Given the description of an element on the screen output the (x, y) to click on. 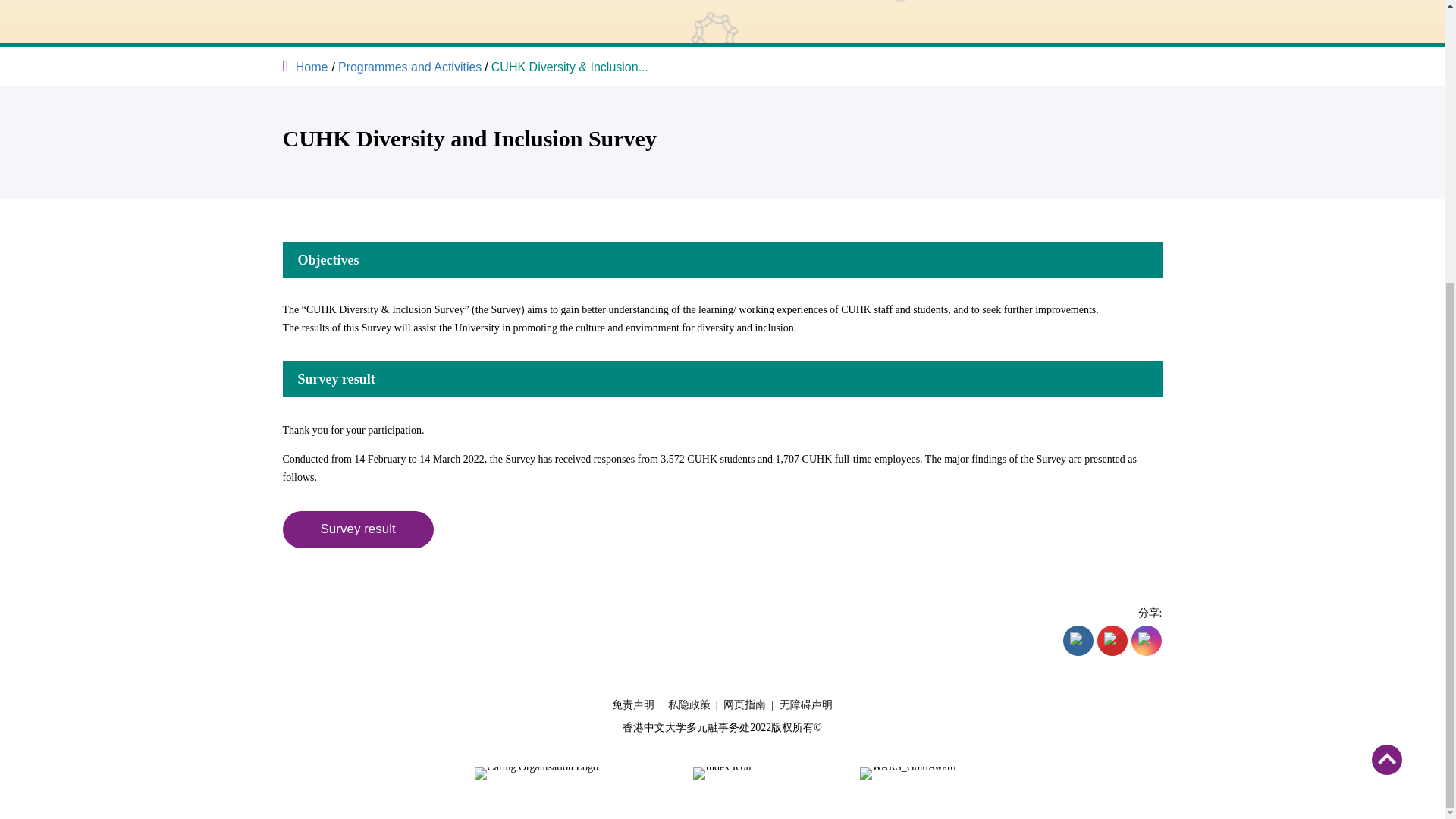
Instagram (1146, 640)
Programmes and Activities (409, 66)
Facebook (1078, 640)
YouTube (1112, 640)
index-icon03-192x100-1-2 (722, 773)
co-logo-5ys-192x66-1-2 (536, 773)
